Given the description of an element on the screen output the (x, y) to click on. 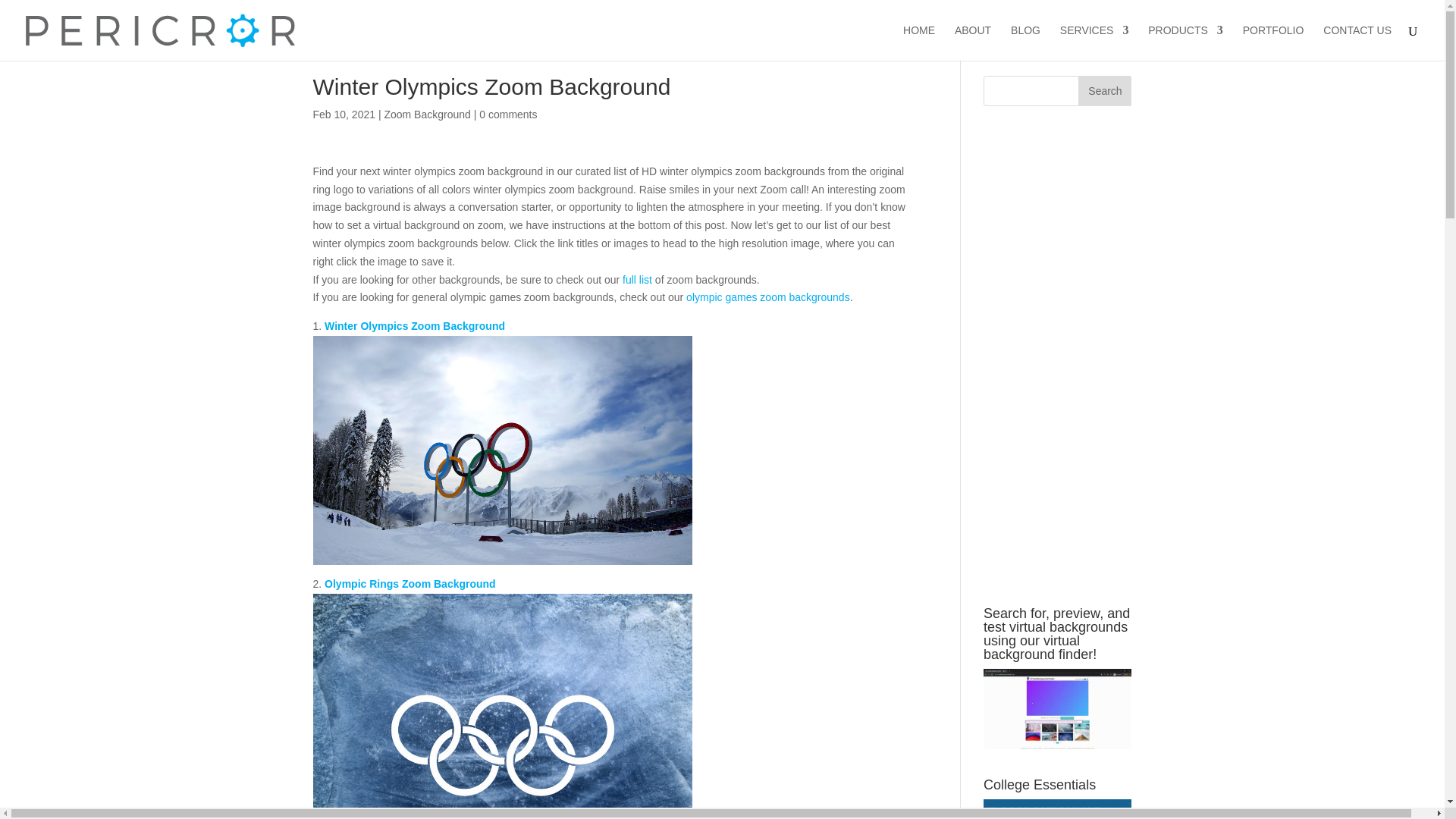
ABOUT (973, 42)
Search (1104, 91)
PORTFOLIO (1273, 42)
SERVICES (1094, 42)
HOME (918, 42)
CONTACT US (1357, 42)
PRODUCTS (1185, 42)
